Given the description of an element on the screen output the (x, y) to click on. 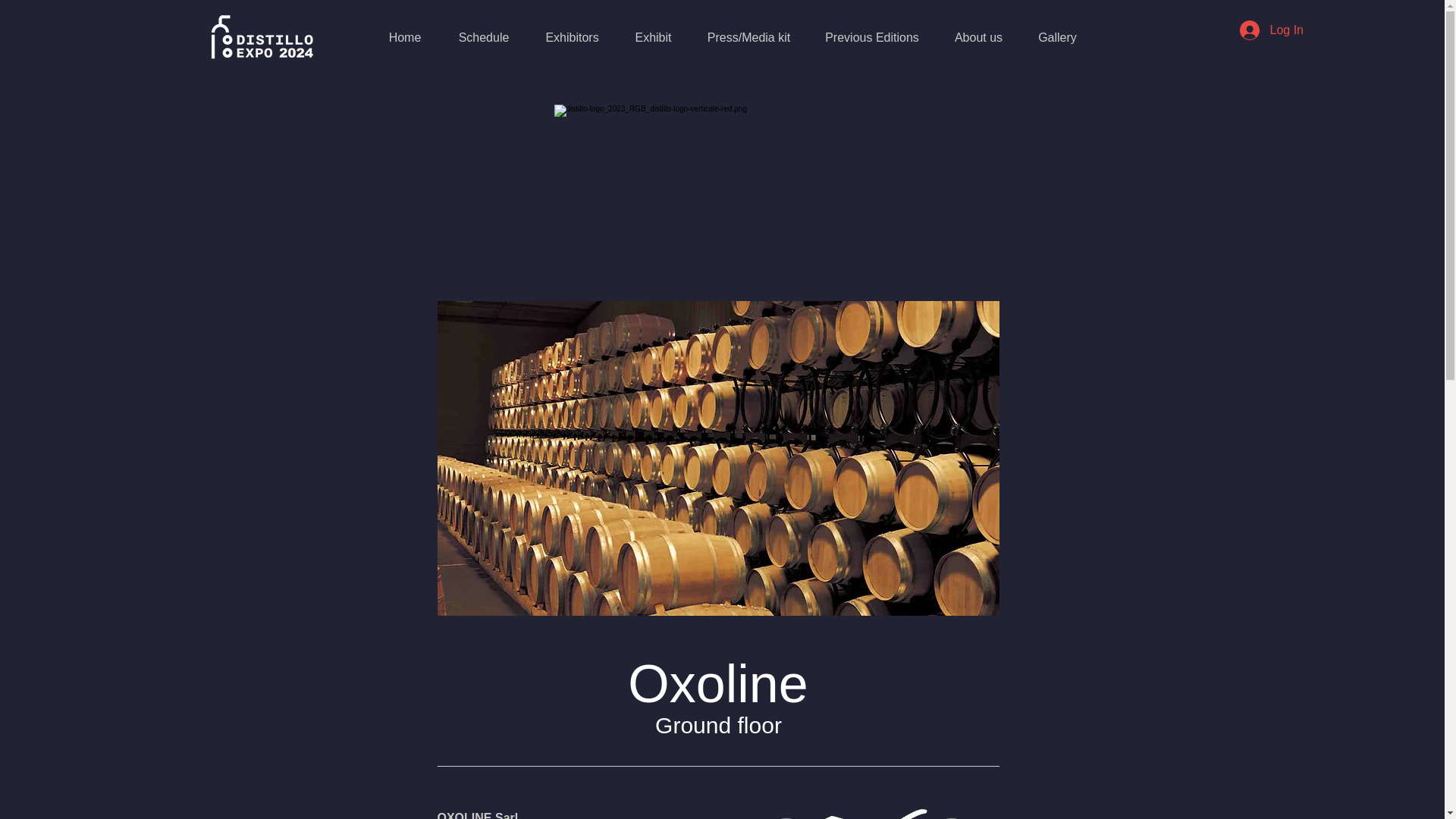
Exhibitors (572, 37)
Schedule (483, 37)
About us (978, 37)
Exhibit (653, 37)
Home (405, 37)
Log In (1271, 30)
Gallery (1056, 37)
Previous Editions (872, 37)
Distillo Logo 2024 horizontal white tr (260, 36)
